Given the description of an element on the screen output the (x, y) to click on. 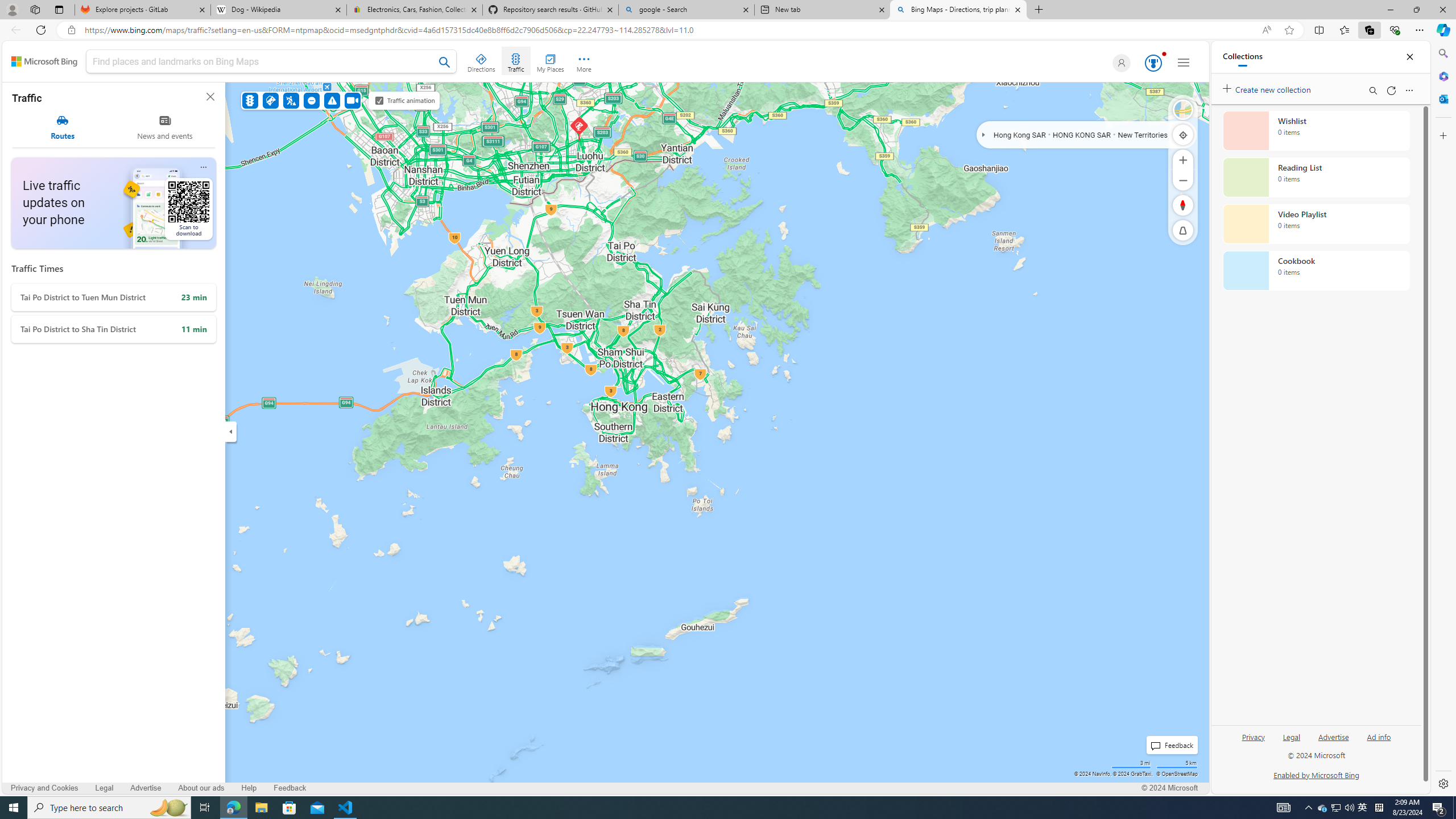
Reading List collection, 0 items (1316, 177)
Side bar (1443, 418)
Expand/Collapse Geochain (982, 134)
Back to Bing search (44, 60)
News and events (164, 127)
More (583, 60)
Advertise (1333, 736)
Miscellaneous incidents (332, 100)
Dog - Wikipedia (277, 9)
Legal (1292, 741)
Expand/Collapse Cards (230, 431)
